Given the description of an element on the screen output the (x, y) to click on. 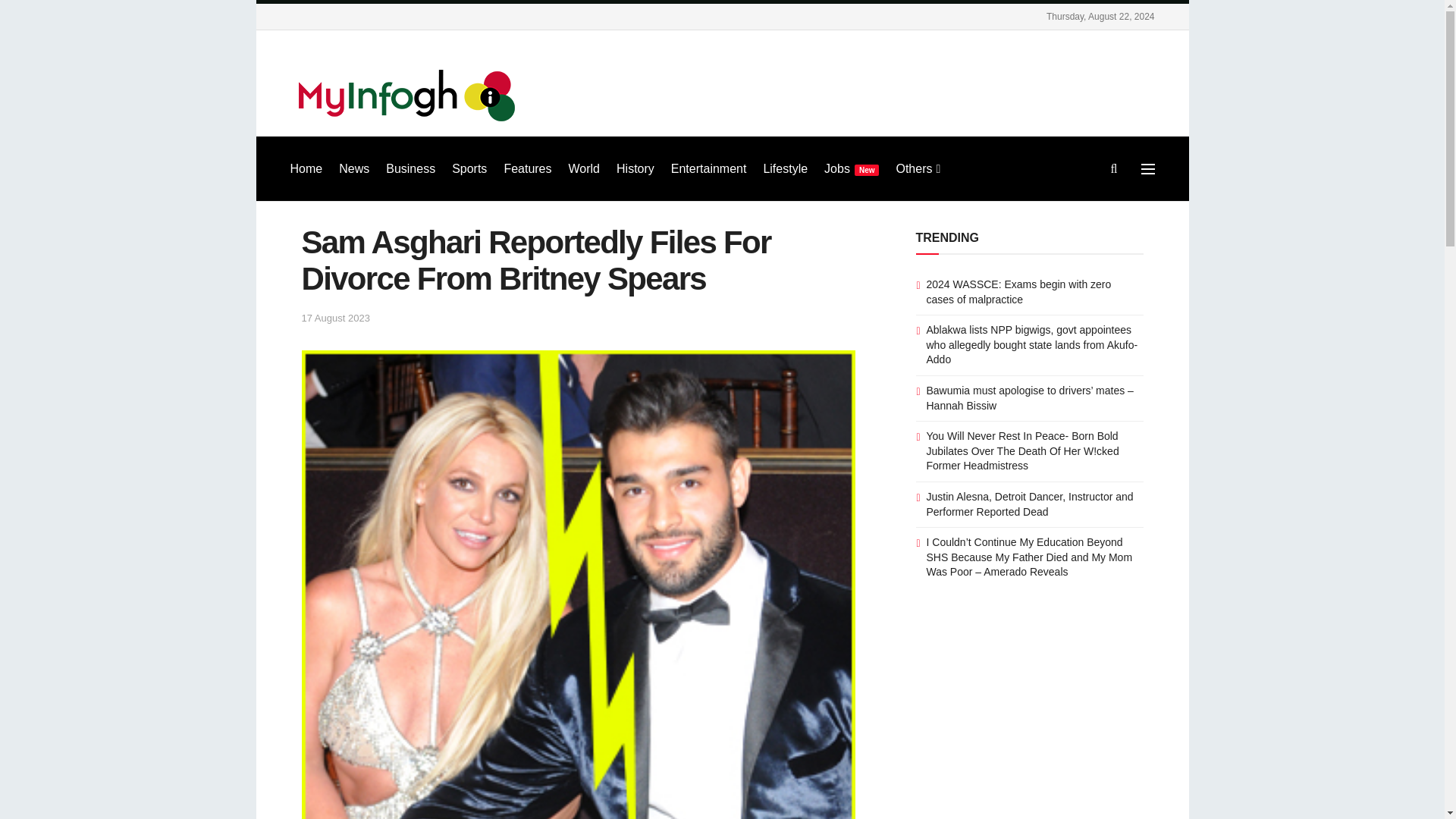
Sports (468, 169)
Home (305, 169)
World (584, 169)
Entertainment (708, 169)
Advertisement (878, 90)
Advertisement (1028, 722)
History (634, 169)
Business (410, 169)
JobsNew (851, 169)
Lifestyle (785, 169)
